Given the description of an element on the screen output the (x, y) to click on. 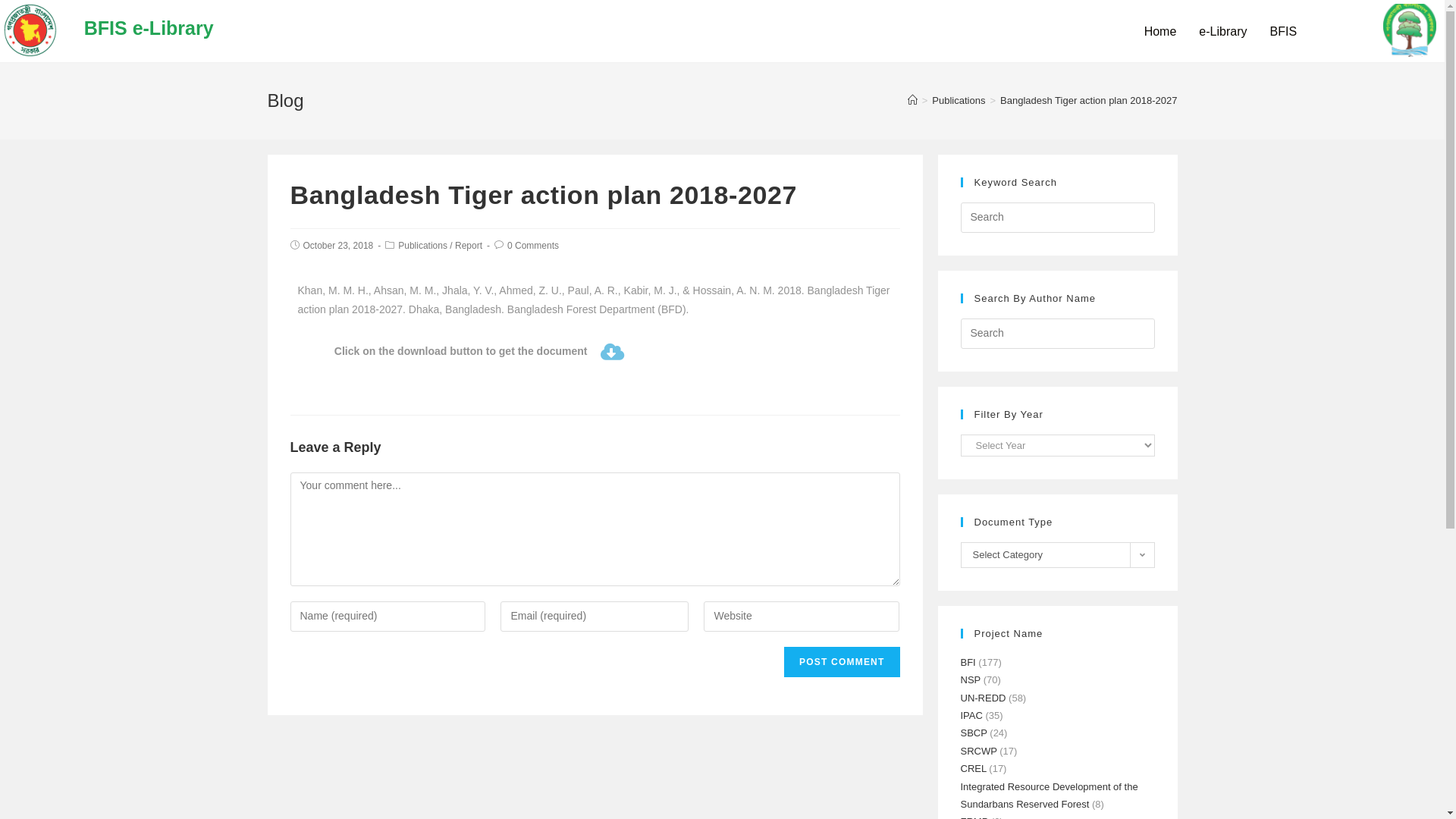
BFI Element type: text (967, 662)
Home Element type: text (1160, 31)
CREL Element type: text (972, 768)
SBCP Element type: text (973, 732)
FD_logo Element type: hover (1409, 29)
Bangladesh Tiger action plan 2018-2027 Element type: text (1088, 100)
gov Element type: hover (29, 29)
Post Comment Element type: text (841, 661)
0 Comments Element type: text (532, 245)
BFIS e-Library Element type: text (148, 27)
Publications Element type: text (422, 245)
SRCWP Element type: text (978, 750)
BFIS Element type: text (1283, 31)
IPAC Element type: text (971, 715)
UN-REDD Element type: text (982, 697)
Publications Element type: text (958, 100)
Report Element type: text (468, 245)
NSP Element type: text (970, 679)
e-Library Element type: text (1222, 31)
